Given the description of an element on the screen output the (x, y) to click on. 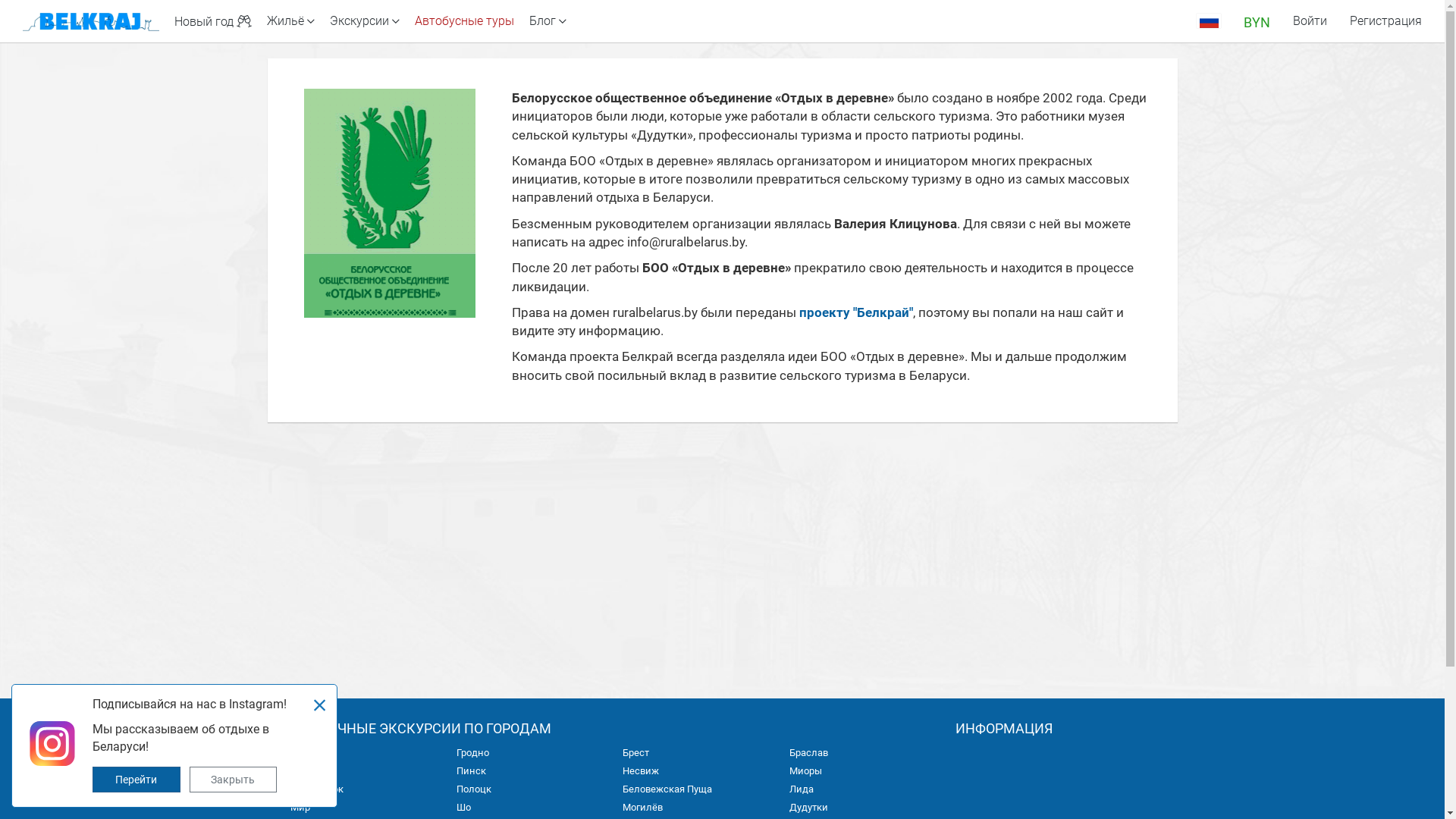
BYN Element type: text (1256, 20)
